Given the description of an element on the screen output the (x, y) to click on. 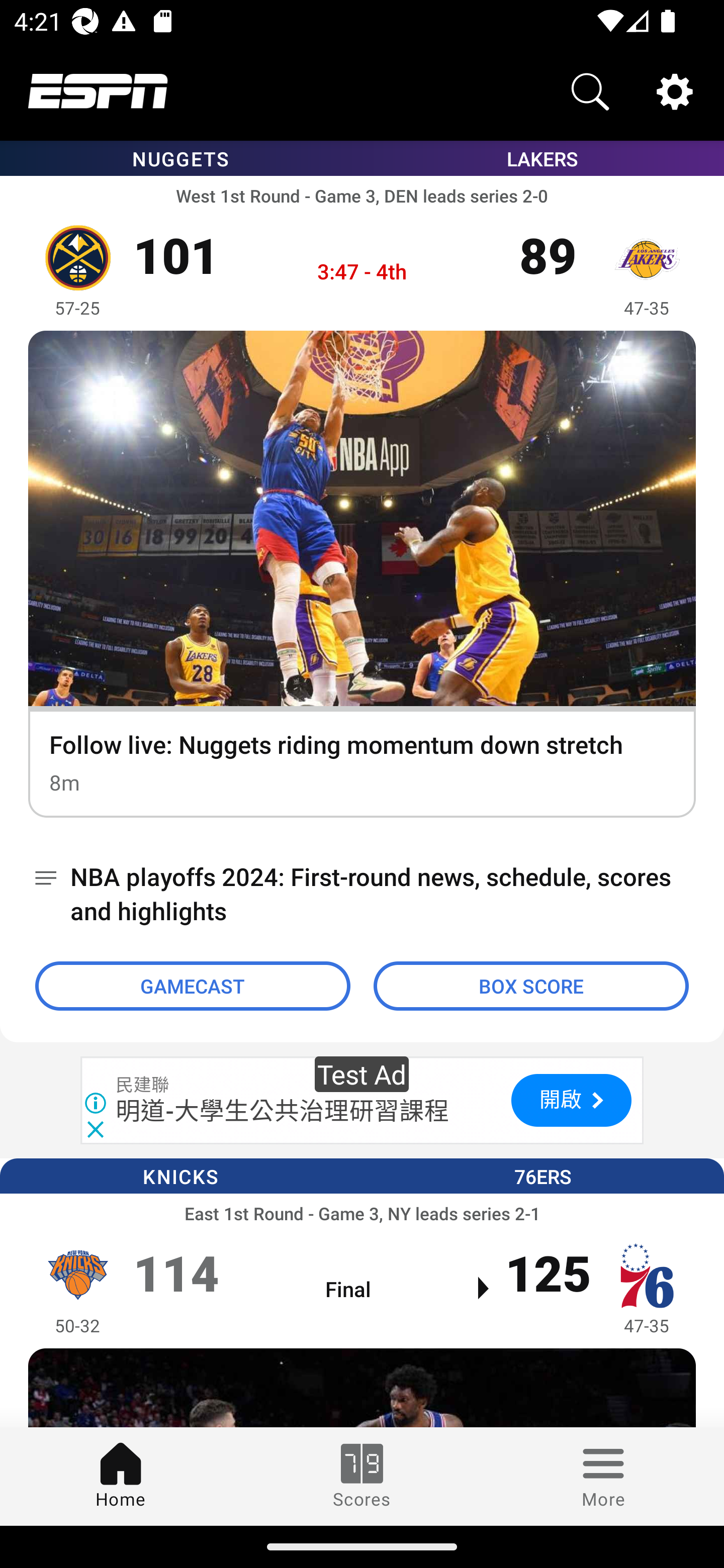
Search (590, 90)
Settings (674, 90)
GAMECAST (192, 986)
BOX SCORE (530, 986)
Scores (361, 1475)
More (603, 1475)
